Given the description of an element on the screen output the (x, y) to click on. 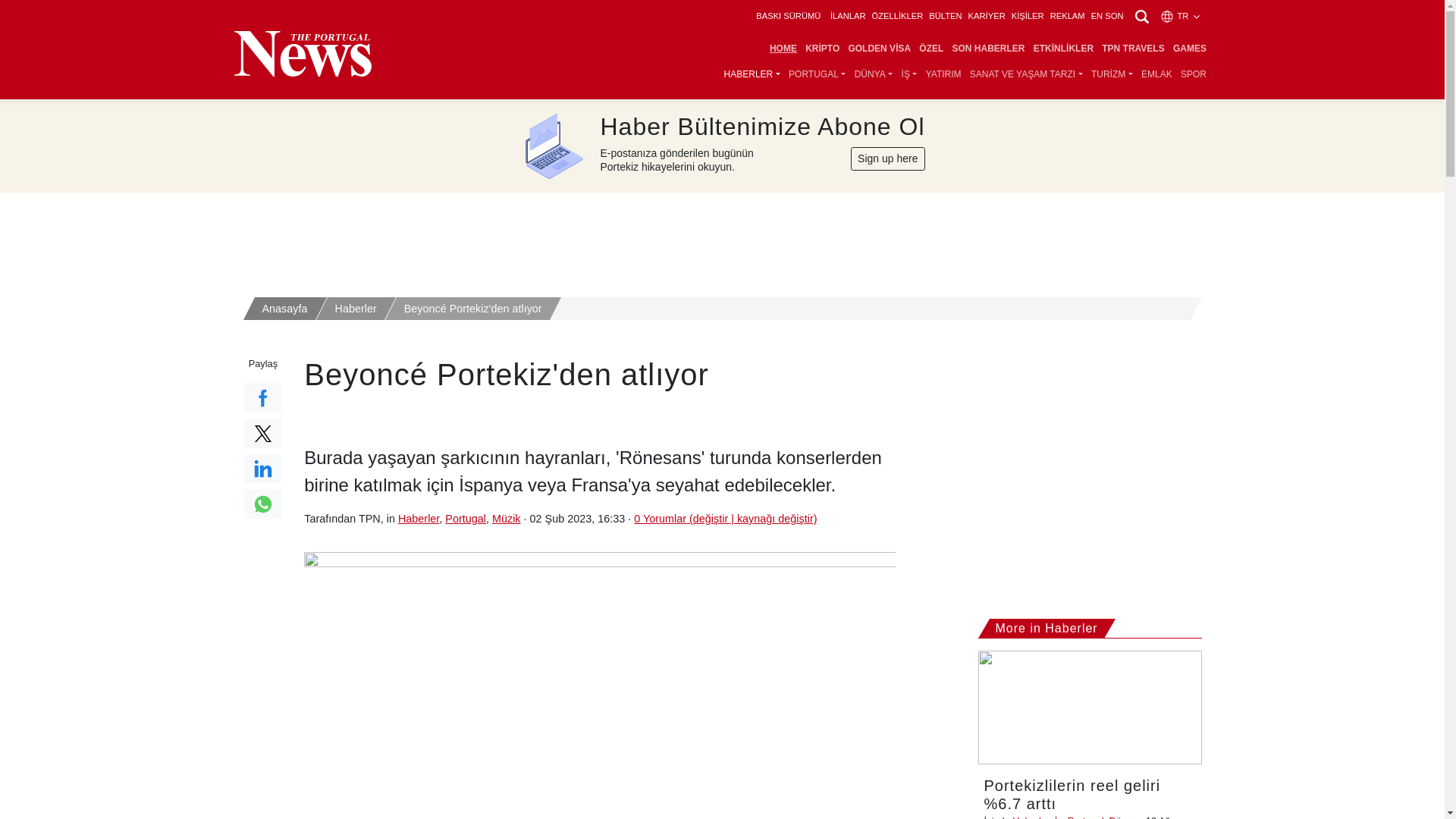
GAMES (1189, 48)
PORTUGAL (817, 73)
SON HABERLER (988, 48)
HOME (782, 48)
EN SON (1107, 15)
HABERLER (751, 73)
KARIYER (987, 15)
REKLAM (1066, 15)
TR (1180, 15)
TPN TRAVELS (1133, 48)
